Given the description of an element on the screen output the (x, y) to click on. 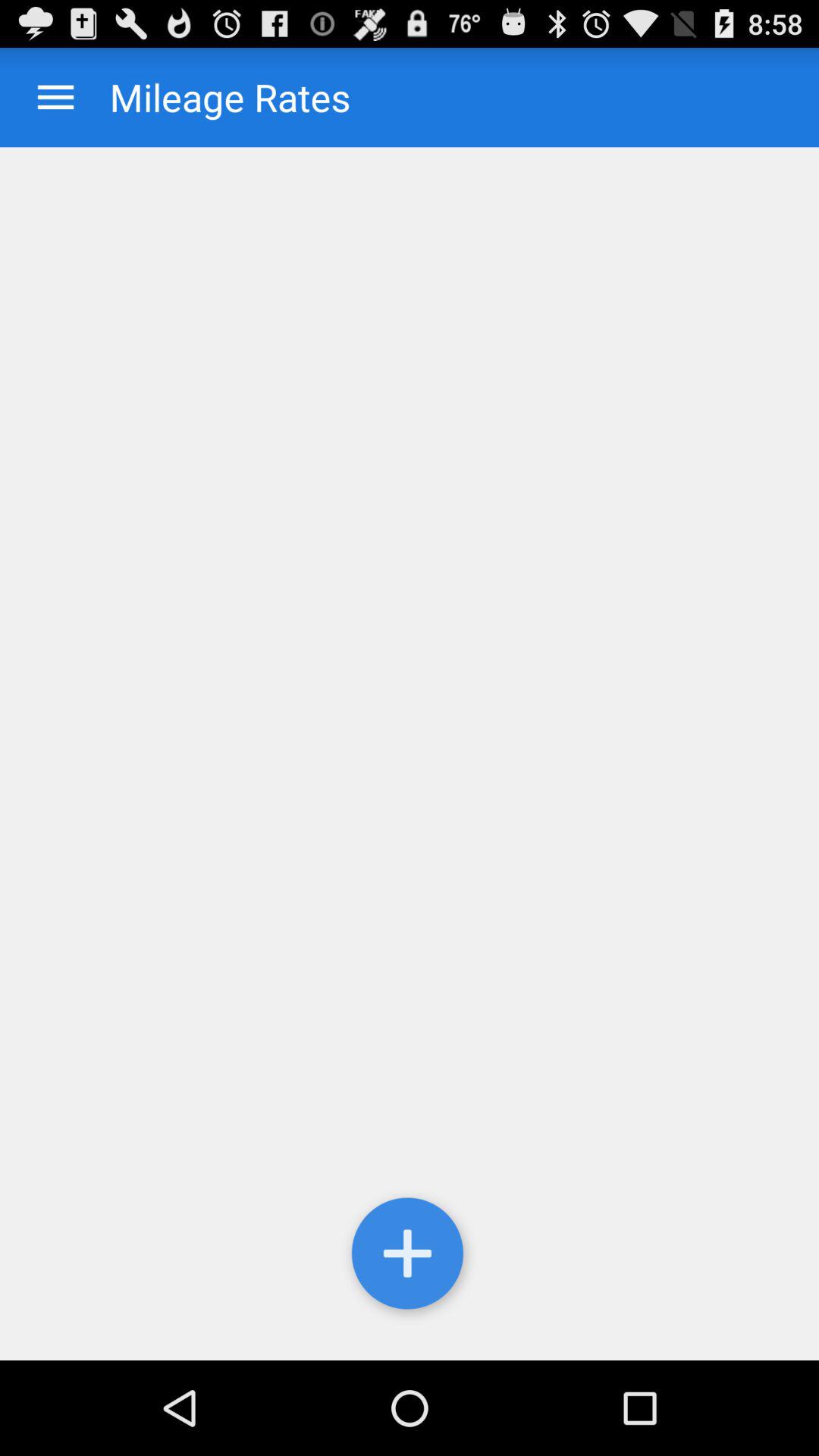
go to settings option (409, 1256)
